Given the description of an element on the screen output the (x, y) to click on. 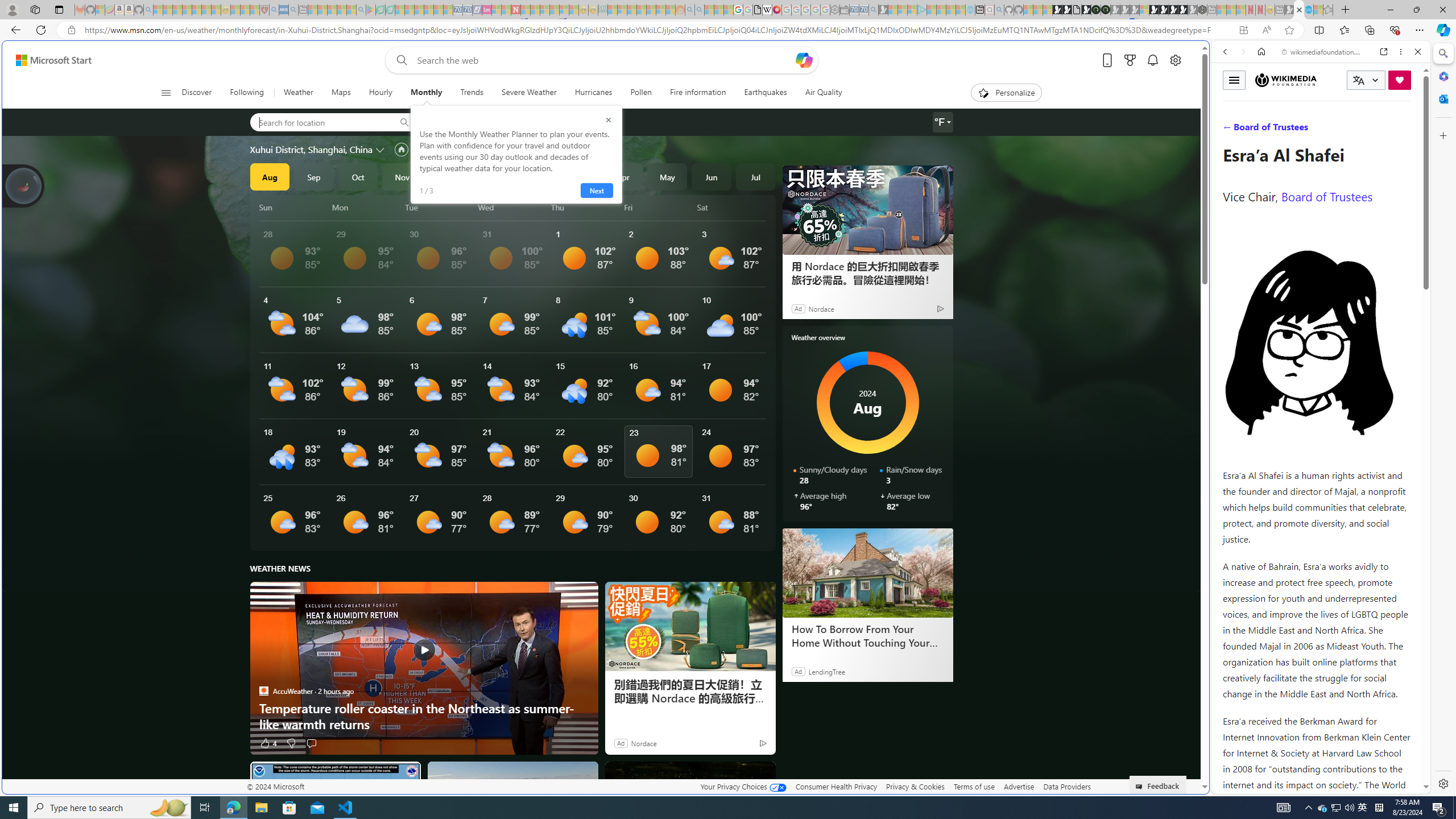
Board of Trustees (1326, 195)
Nov (401, 176)
Latest Politics News & Archive | Newsweek.com - Sleeping (515, 9)
Search for location (318, 122)
Trusted Community Engagement and Contributions | Guidelines (525, 9)
Personalize (1006, 92)
Open navigation menu (164, 92)
Wikimedia Foundation (1286, 79)
